Given the description of an element on the screen output the (x, y) to click on. 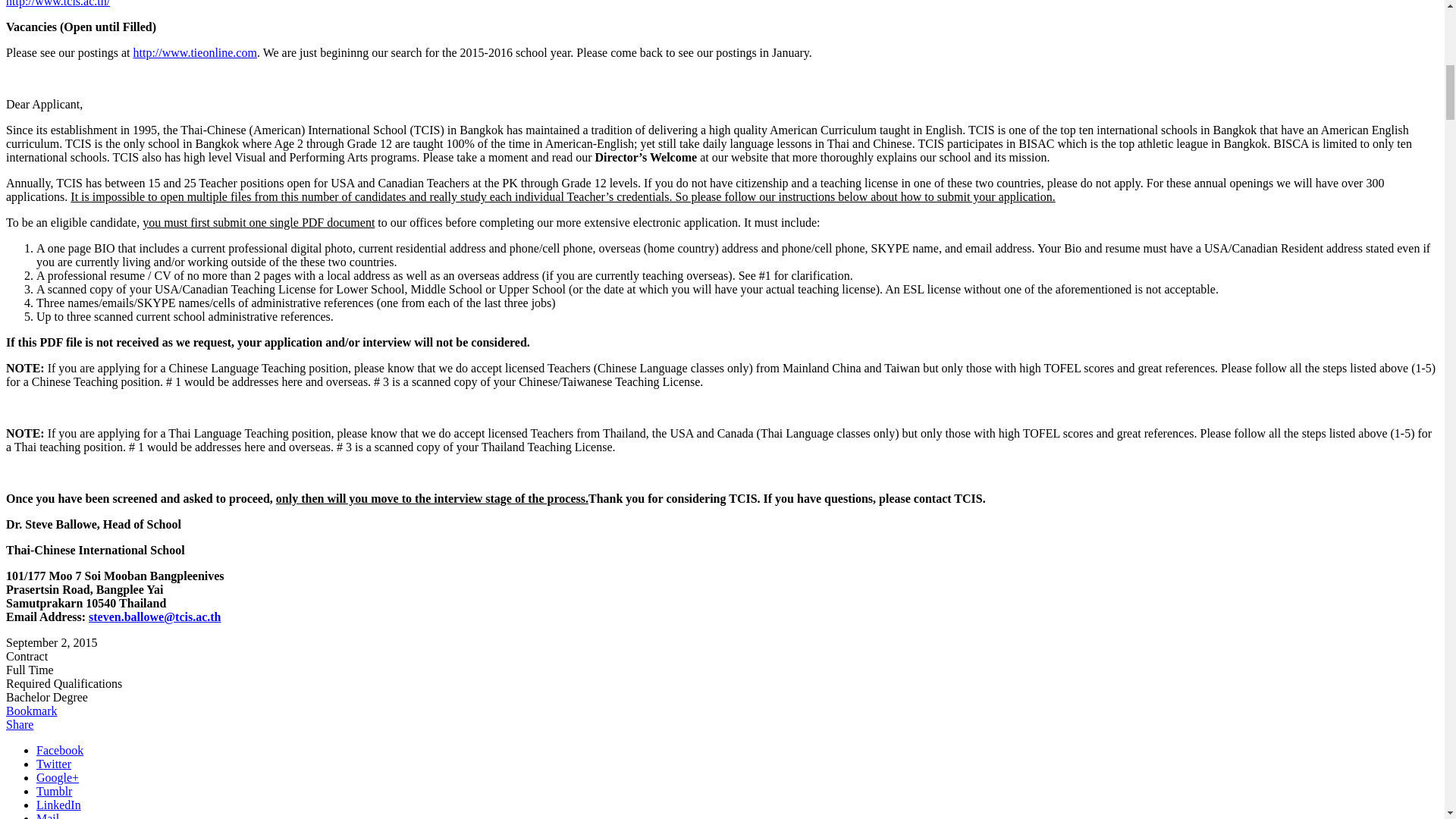
Bookmark this Listing (31, 710)
